Given the description of an element on the screen output the (x, y) to click on. 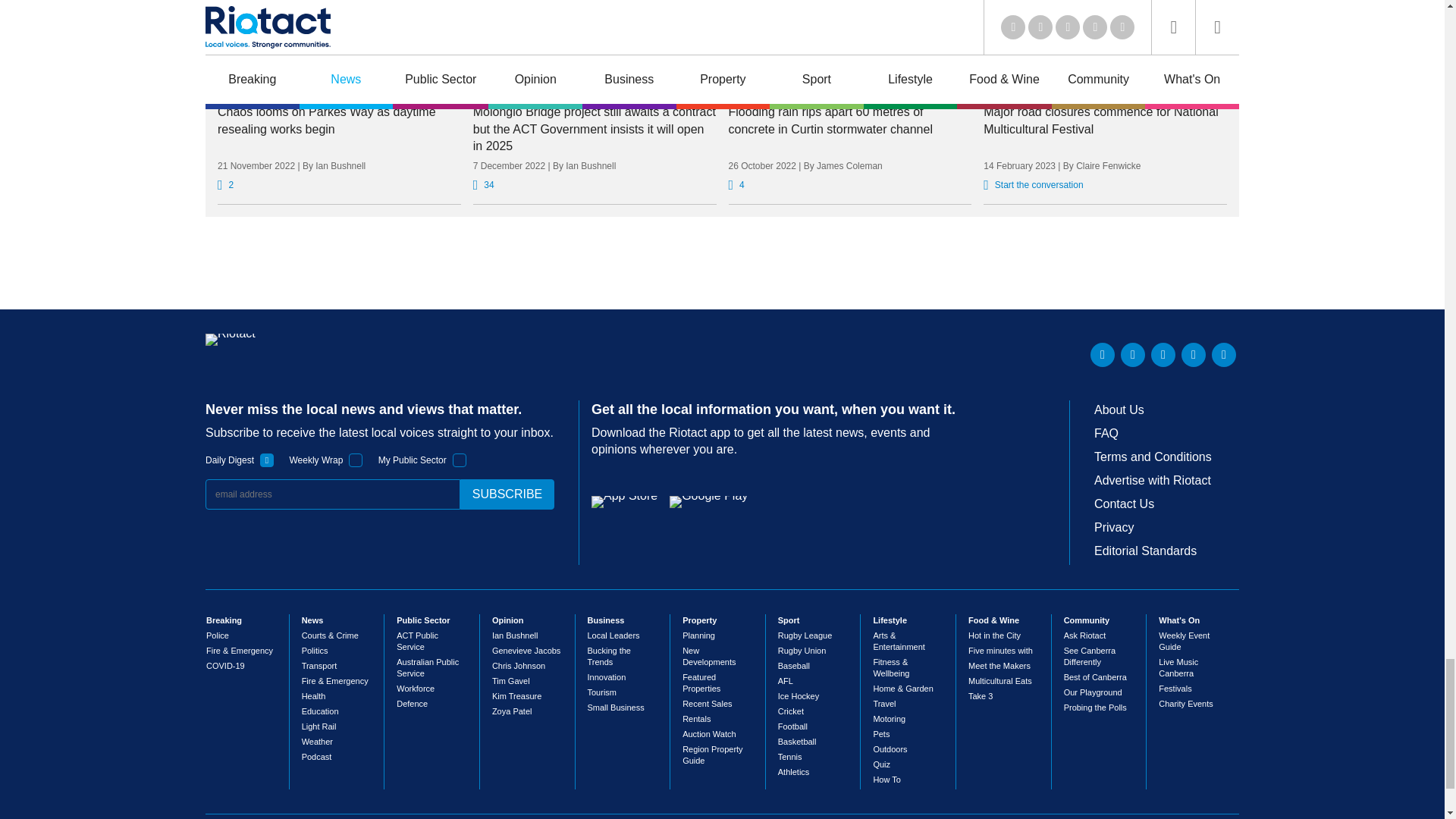
1 (458, 459)
1 (355, 459)
subscribe (507, 494)
1 (266, 459)
